Given the description of an element on the screen output the (x, y) to click on. 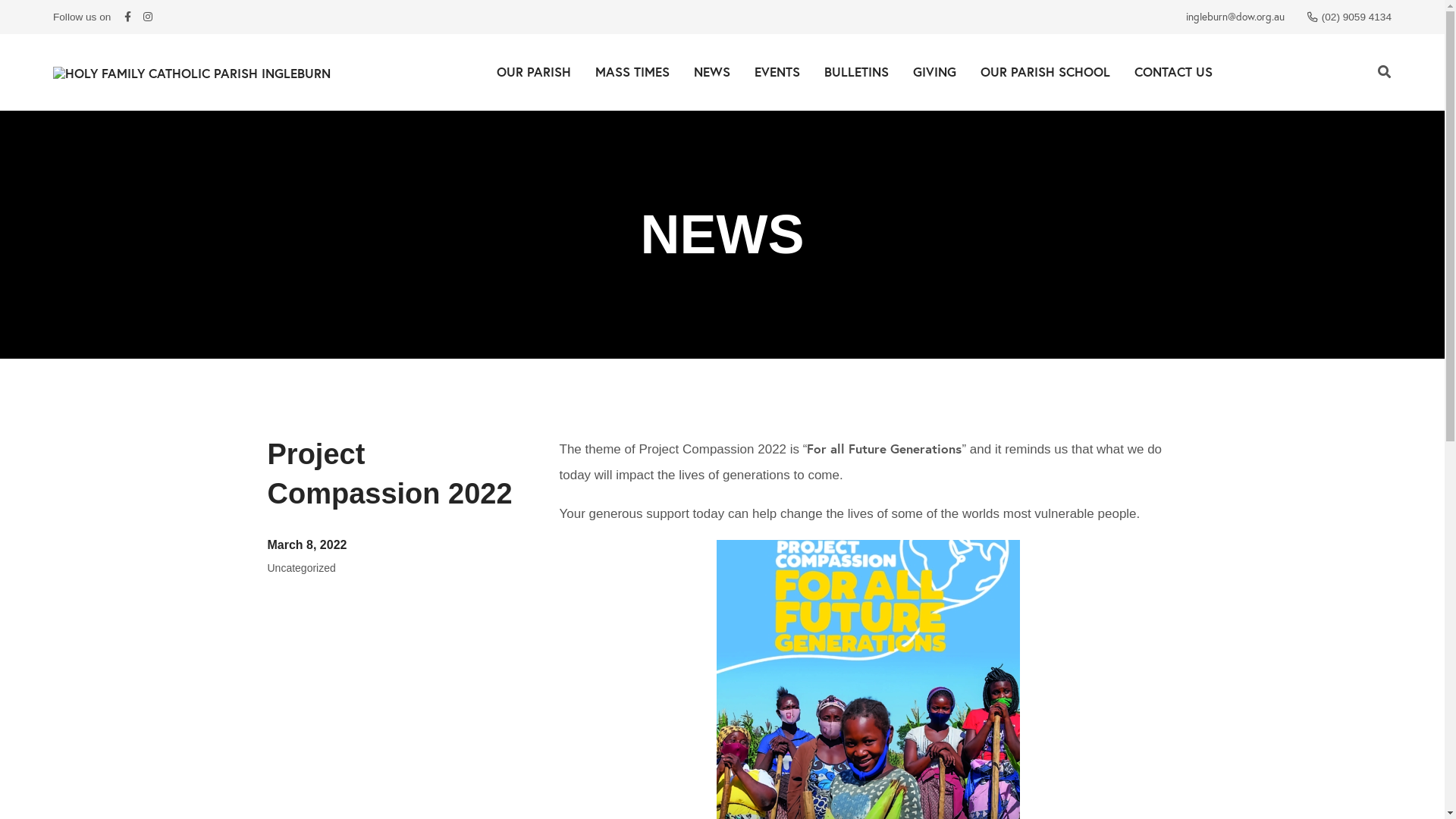
OUR PARISH Element type: text (532, 71)
GIVING Element type: text (934, 71)
EVENTS Element type: text (776, 71)
MASS TIMES Element type: text (631, 71)
Search Element type: text (820, 72)
CONTACT US Element type: text (1173, 71)
NEWS Element type: text (710, 71)
BULLETINS Element type: text (855, 71)
Search Element type: hover (1384, 72)
ingleburn@dow.org.au Element type: text (1235, 16)
OUR PARISH SCHOOL Element type: text (1044, 71)
